Given the description of an element on the screen output the (x, y) to click on. 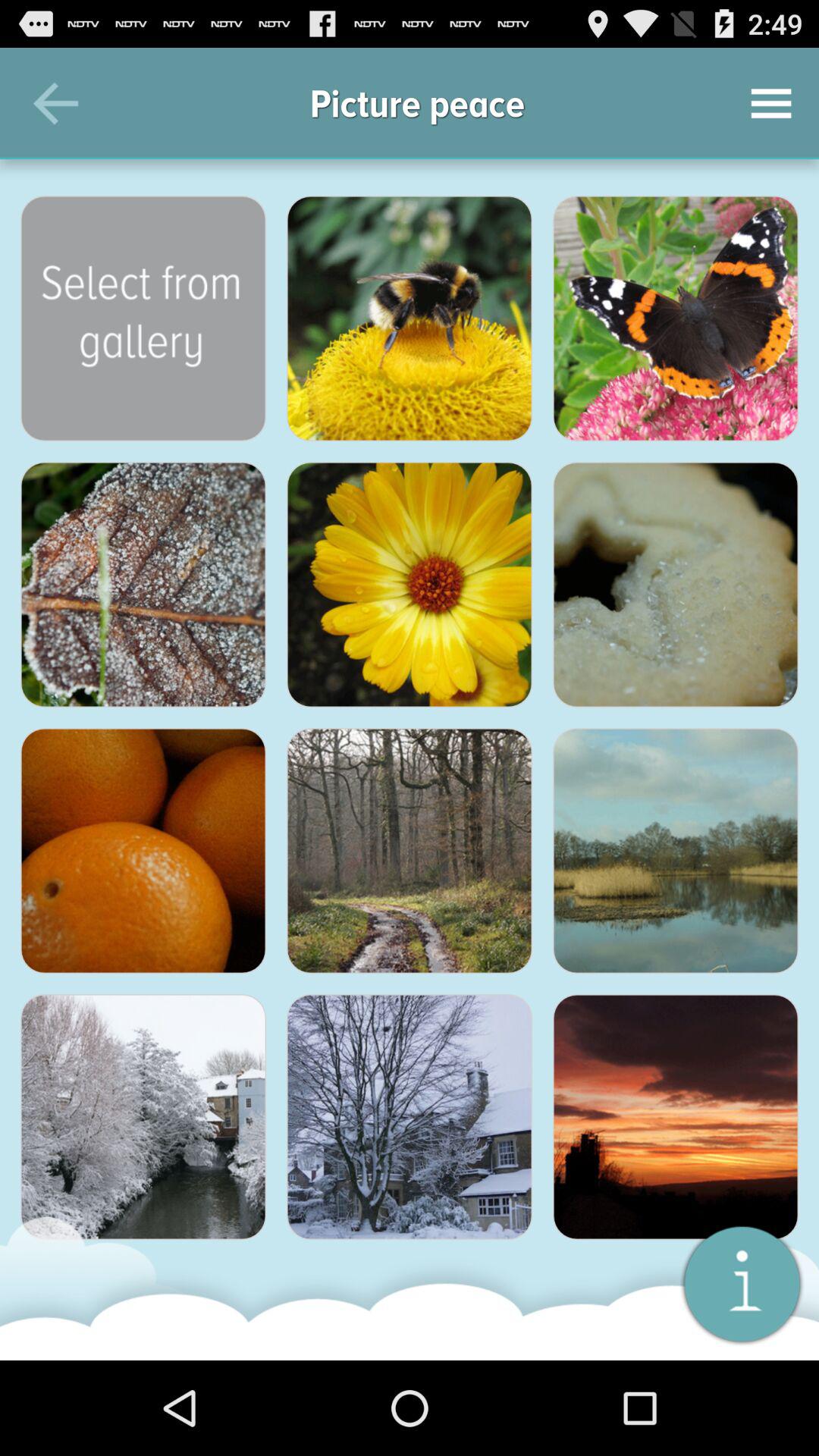
open photo (675, 318)
